Given the description of an element on the screen output the (x, y) to click on. 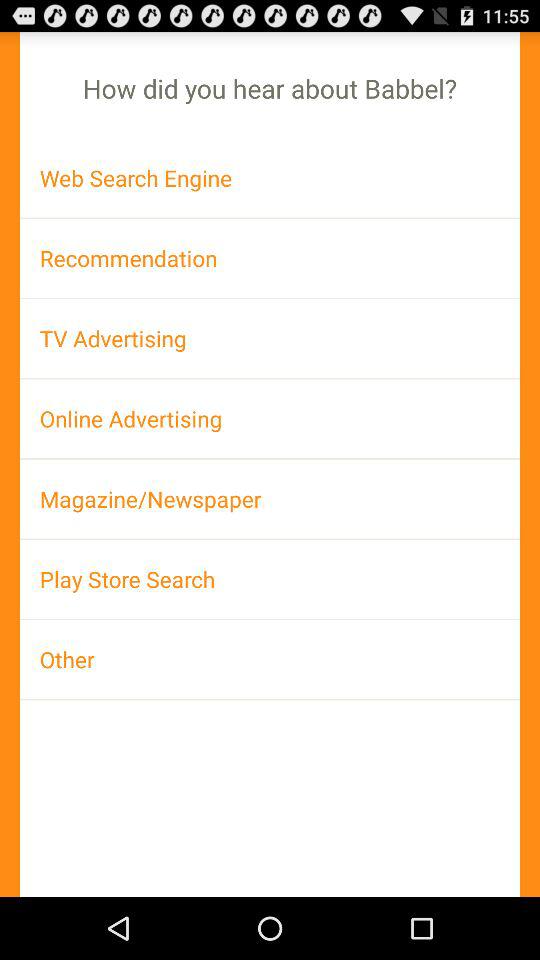
click the app above the tv advertising app (269, 258)
